Given the description of an element on the screen output the (x, y) to click on. 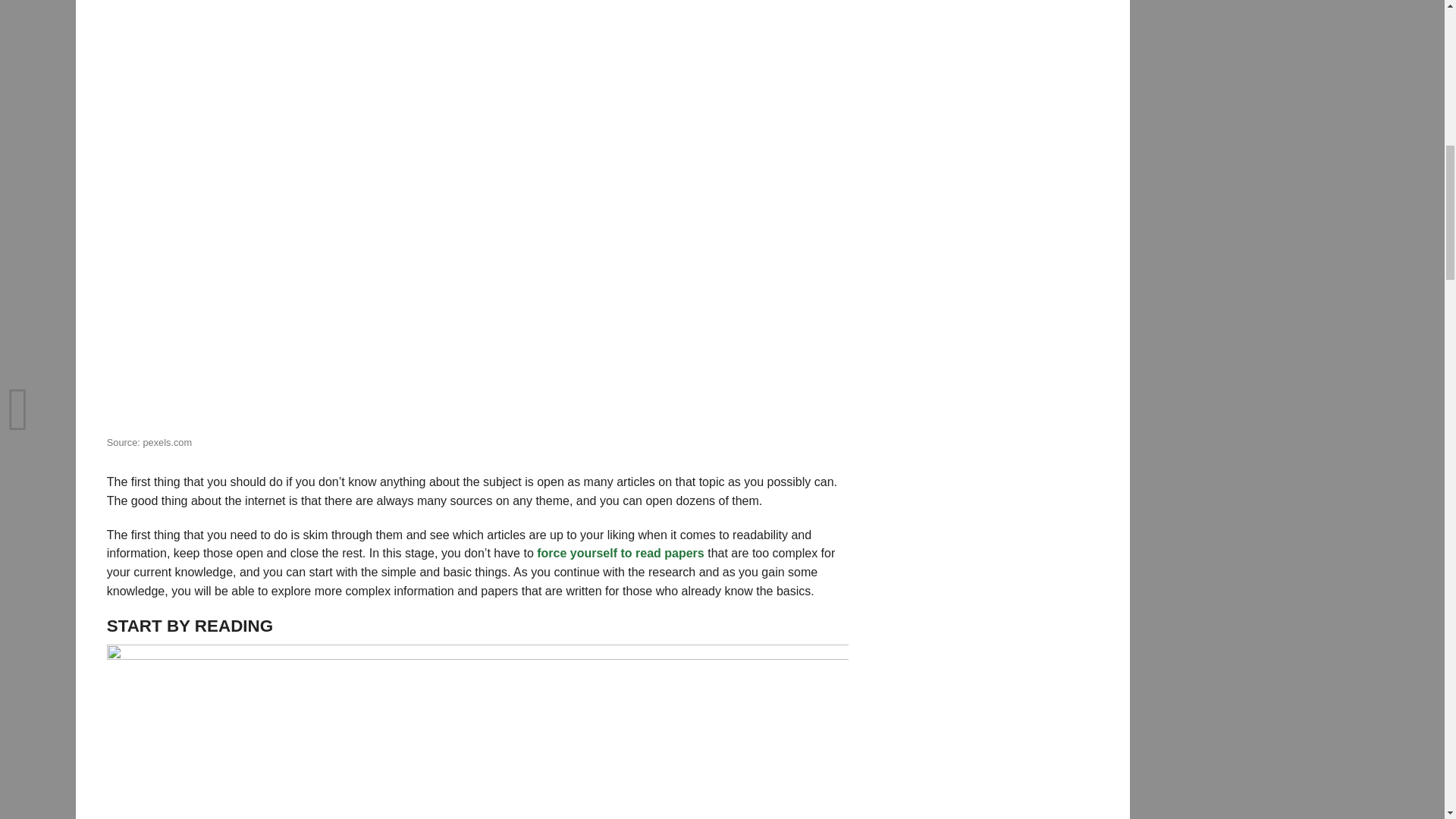
force yourself to read papers (620, 553)
